Given the description of an element on the screen output the (x, y) to click on. 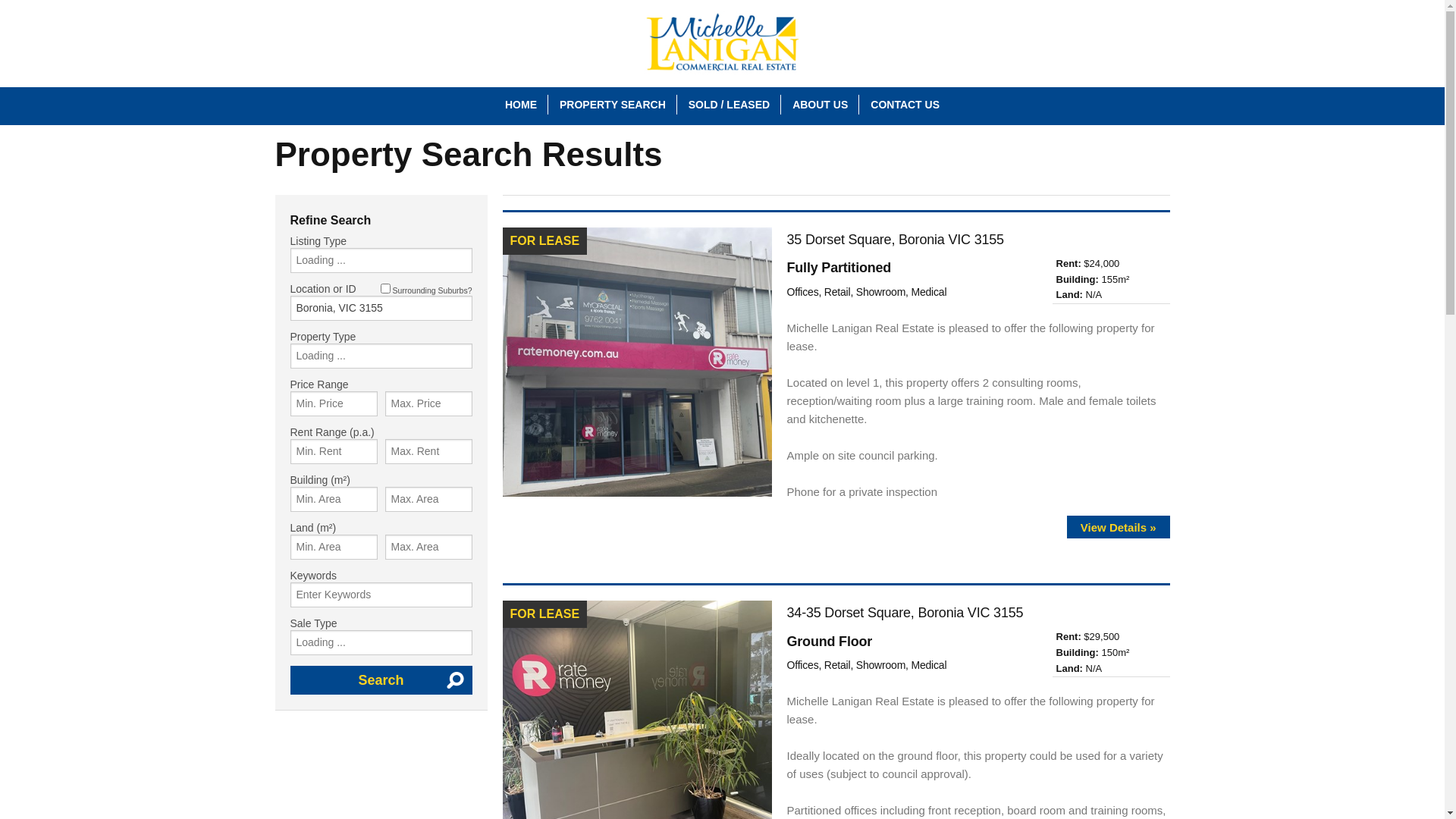
CONTACT US Element type: text (904, 104)
SOLD / LEASED Element type: text (729, 104)
PROPERTY SEARCH Element type: text (612, 104)
FOR LEASE Element type: text (636, 361)
Search Element type: text (380, 679)
ABOUT US Element type: text (820, 104)
HOME Element type: text (520, 104)
